Given the description of an element on the screen output the (x, y) to click on. 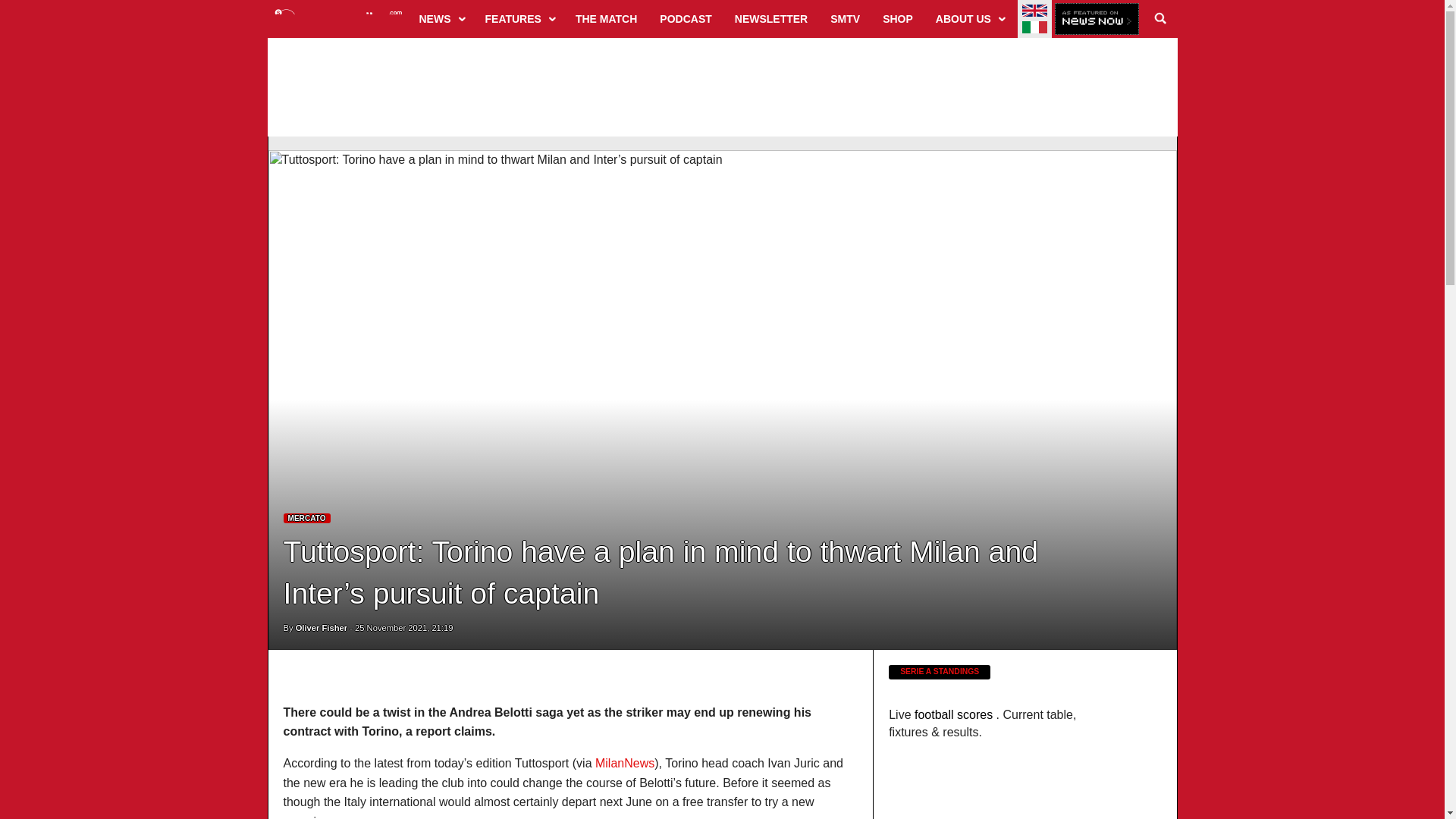
Currently viewing our English language site (1034, 10)
NEWSLETTER (770, 18)
HOME (338, 18)
NEWS (440, 18)
THE MATCH (605, 18)
Click here for more AC Milan news from NewsNow (1096, 19)
FEATURES (518, 18)
Search (1160, 18)
SHOP (897, 18)
SMTV (844, 18)
PODCAST (684, 18)
Visit our Italian language site (1034, 27)
ABOUT US (968, 18)
Latest Mercato News (306, 518)
